Given the description of an element on the screen output the (x, y) to click on. 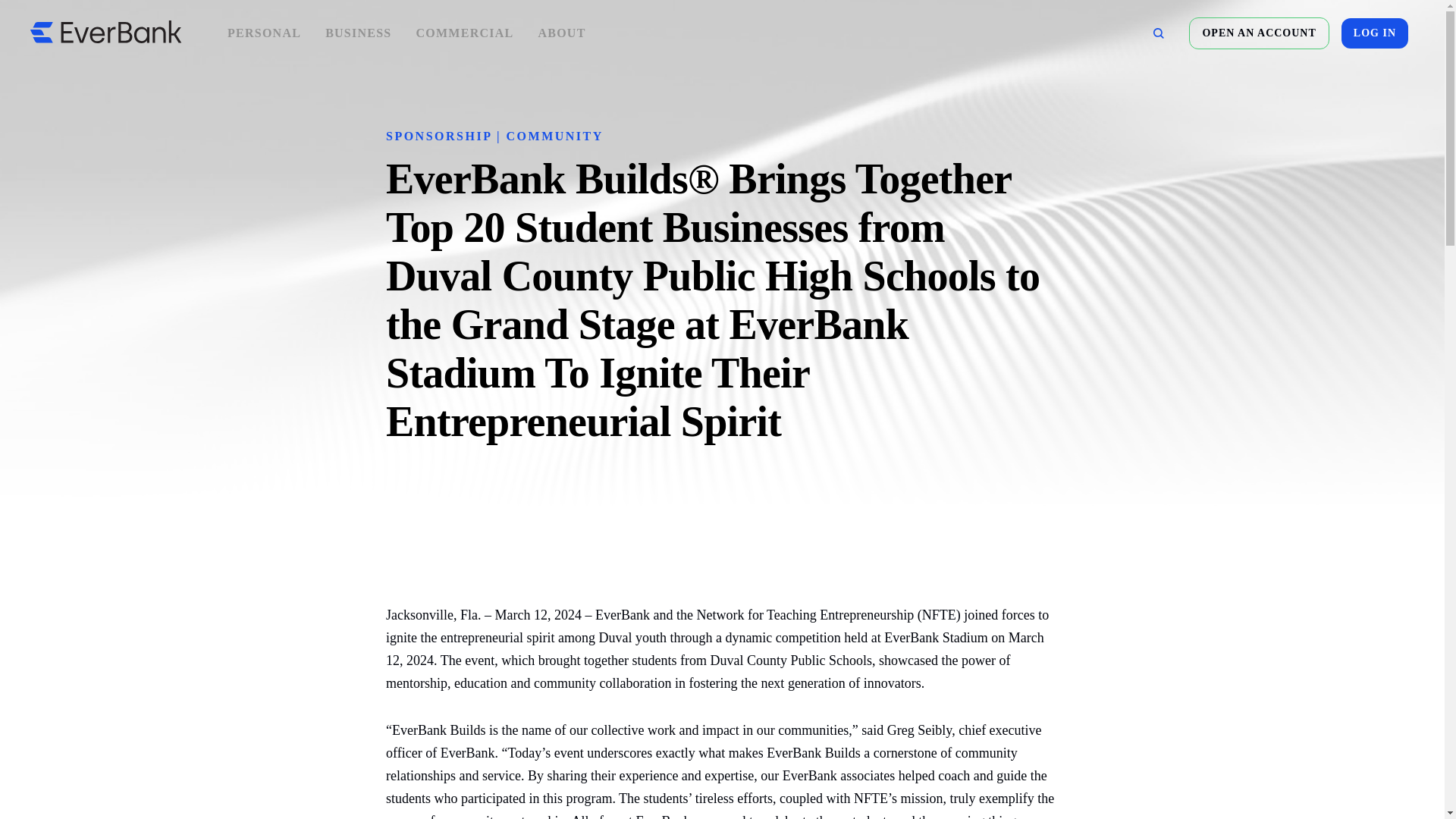
OPEN AN ACCOUNT (1258, 33)
ABOUT (561, 32)
LOG IN (1373, 33)
BUSINESS (357, 32)
PERSONAL (264, 32)
COMMERCIAL (463, 32)
